Given the description of an element on the screen output the (x, y) to click on. 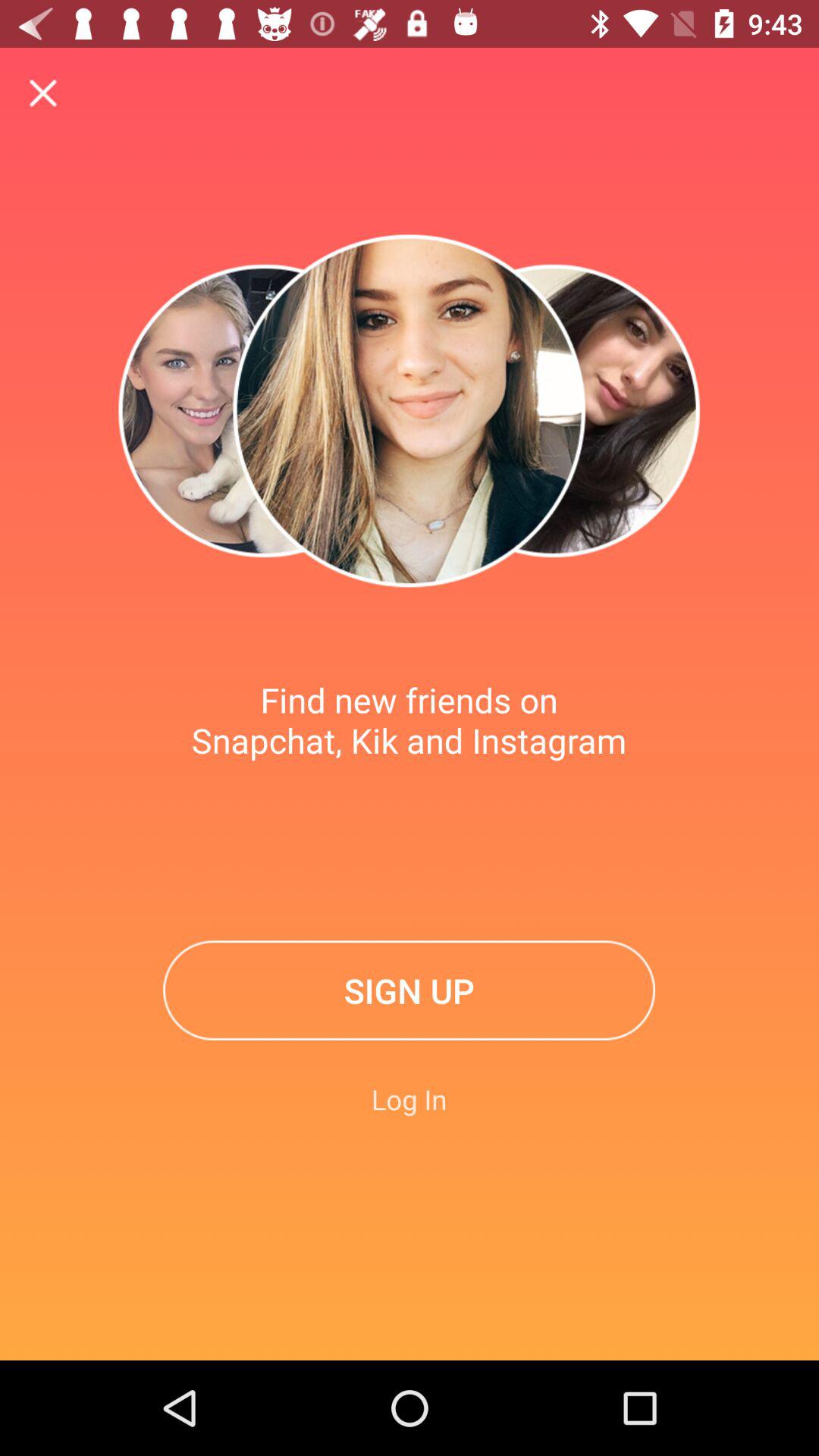
open sign up item (409, 990)
